Given the description of an element on the screen output the (x, y) to click on. 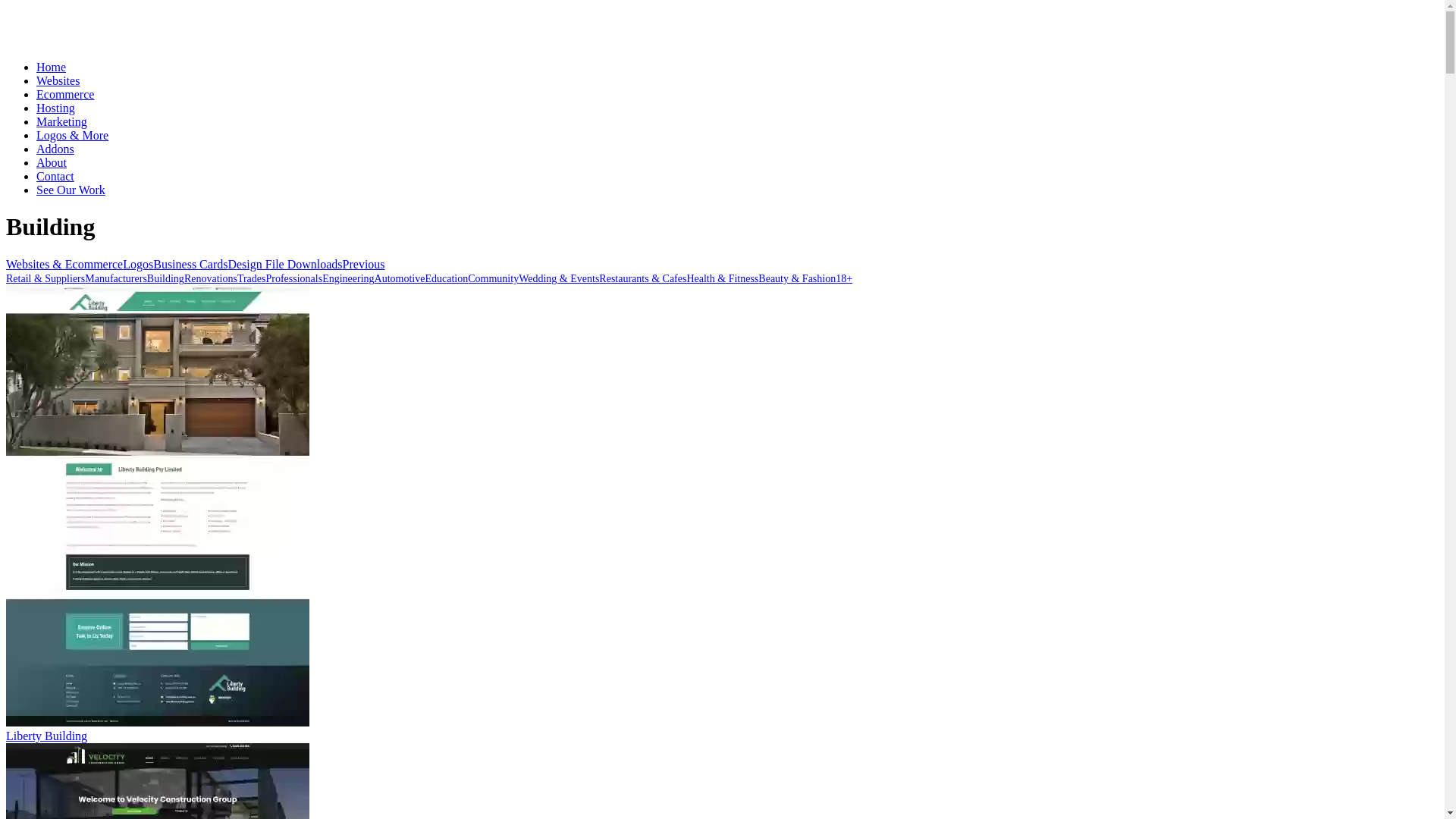
Community Element type: text (492, 279)
Liberty Building Element type: text (722, 514)
Business Cards Element type: text (190, 264)
Logos Element type: text (137, 264)
Websites & Ecommerce Element type: text (64, 264)
Home Element type: text (50, 66)
Delta Web Logo Element type: hover (97, 25)
Ecommerce Element type: text (65, 93)
See Our Work Element type: text (70, 189)
Previous Element type: text (363, 264)
Professionals Element type: text (293, 279)
Automotive Element type: text (399, 279)
Marketing Element type: text (61, 121)
Delta Web - Website Design Merrylands Sydney Element type: hover (97, 40)
About Element type: text (51, 162)
Liberty Building Element type: hover (157, 505)
Education Element type: text (445, 279)
18+ Element type: text (843, 279)
Trades Element type: text (251, 279)
Renovations Element type: text (210, 279)
Logos & More Element type: text (72, 134)
Hosting Element type: text (55, 107)
Retail & Suppliers Element type: text (45, 279)
Engineering Element type: text (347, 279)
Wedding & Events Element type: text (558, 279)
Manufacturers Element type: text (115, 279)
Building Element type: text (165, 279)
Websites Element type: text (57, 80)
Design File Downloads Element type: text (284, 264)
Restaurants & Cafes Element type: text (642, 279)
Addons Element type: text (55, 148)
Health & Fitness Element type: text (722, 279)
Contact Element type: text (55, 175)
Beauty & Fashion Element type: text (796, 279)
